Given the description of an element on the screen output the (x, y) to click on. 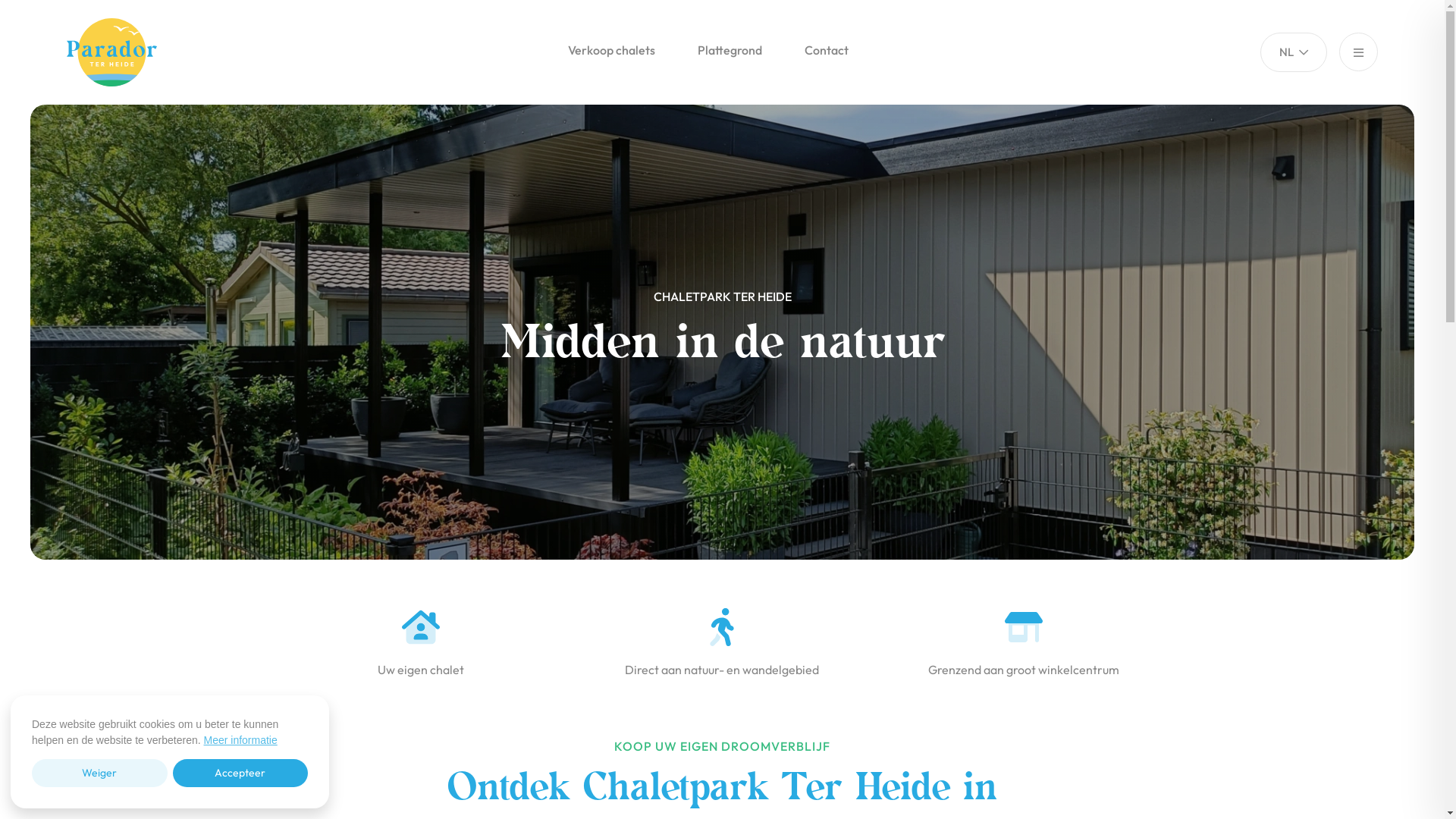
NL Element type: text (1293, 52)
Weiger Element type: text (99, 773)
Plattegrond Element type: text (729, 49)
Contact Element type: text (826, 49)
Ter Heide jaarplaatsen 5 Element type: hover (722, 331)
Accepteer Element type: text (240, 773)
Verkoop chalets Element type: text (611, 49)
Meer informatie Element type: text (239, 740)
Ter Heide Element type: text (123, 52)
